Given the description of an element on the screen output the (x, y) to click on. 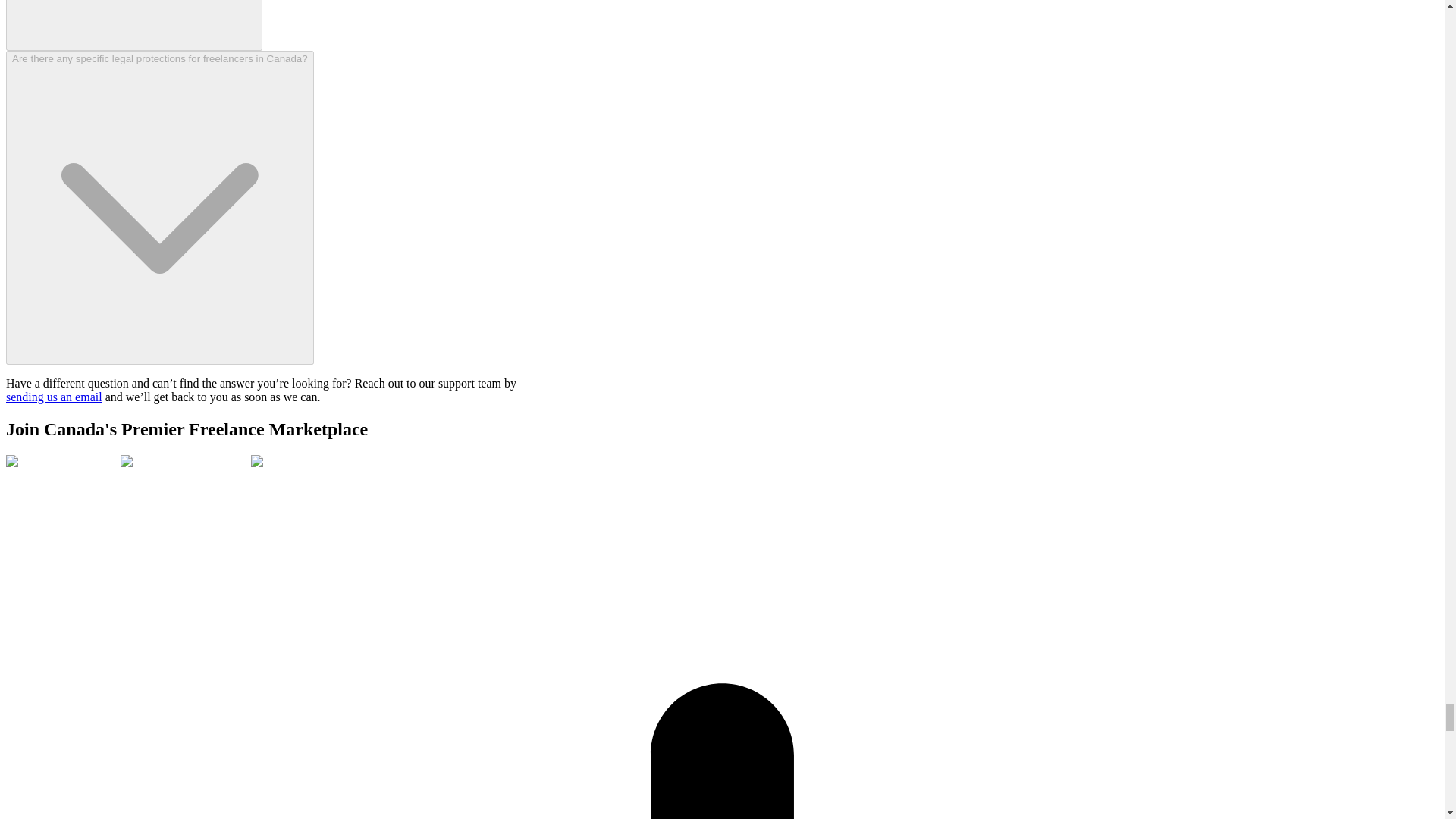
Where can I network with other Canadian freelancers? (133, 25)
sending us an email (53, 396)
